Given the description of an element on the screen output the (x, y) to click on. 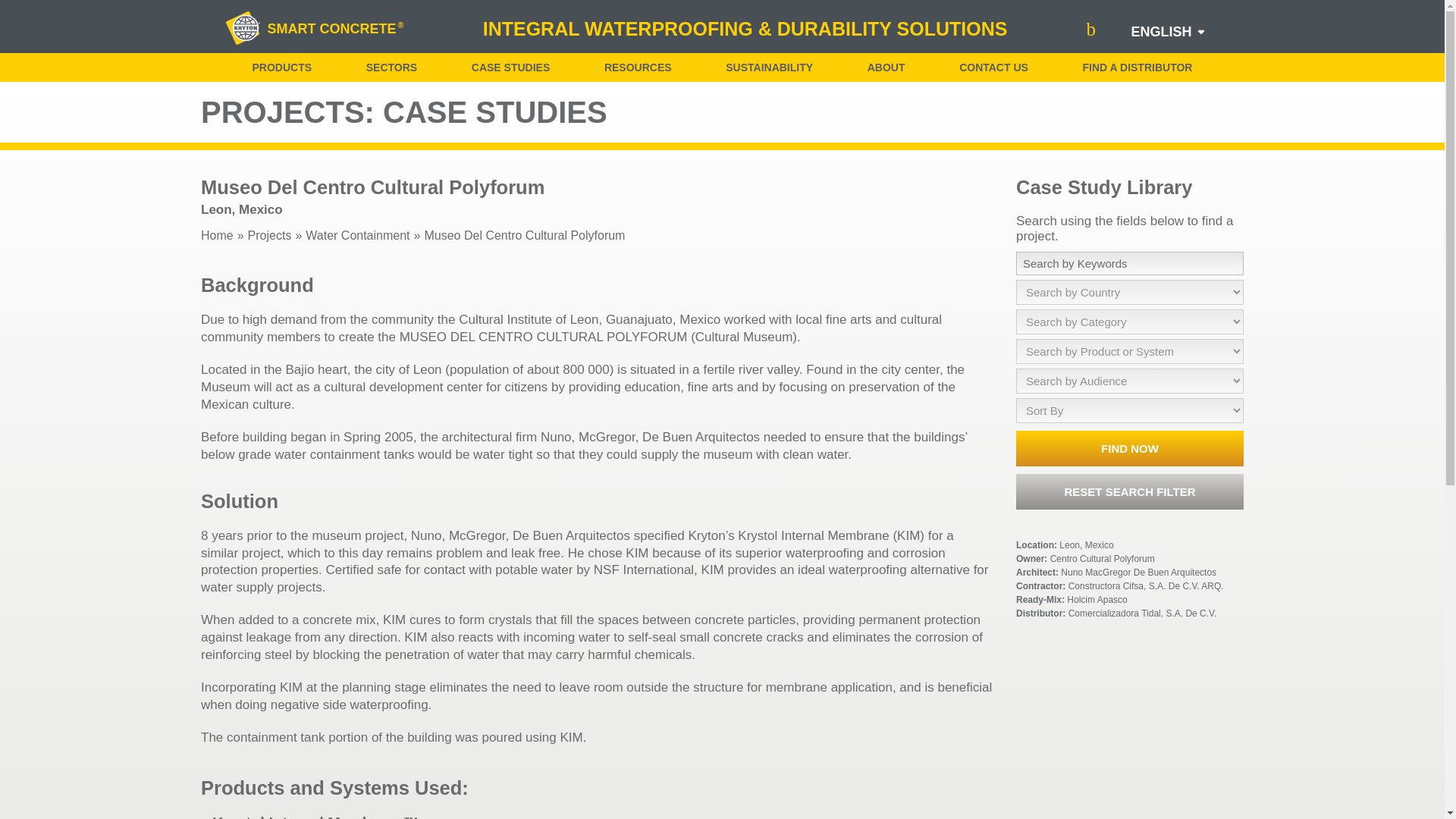
RESOURCES (637, 67)
ENGLISH (1161, 31)
Kryton (242, 28)
PRODUCTS (281, 67)
CASE STUDIES (510, 67)
Projects (269, 235)
Find Now (1129, 448)
Water Containment (357, 235)
Home (216, 235)
SECTORS (391, 67)
